Given the description of an element on the screen output the (x, y) to click on. 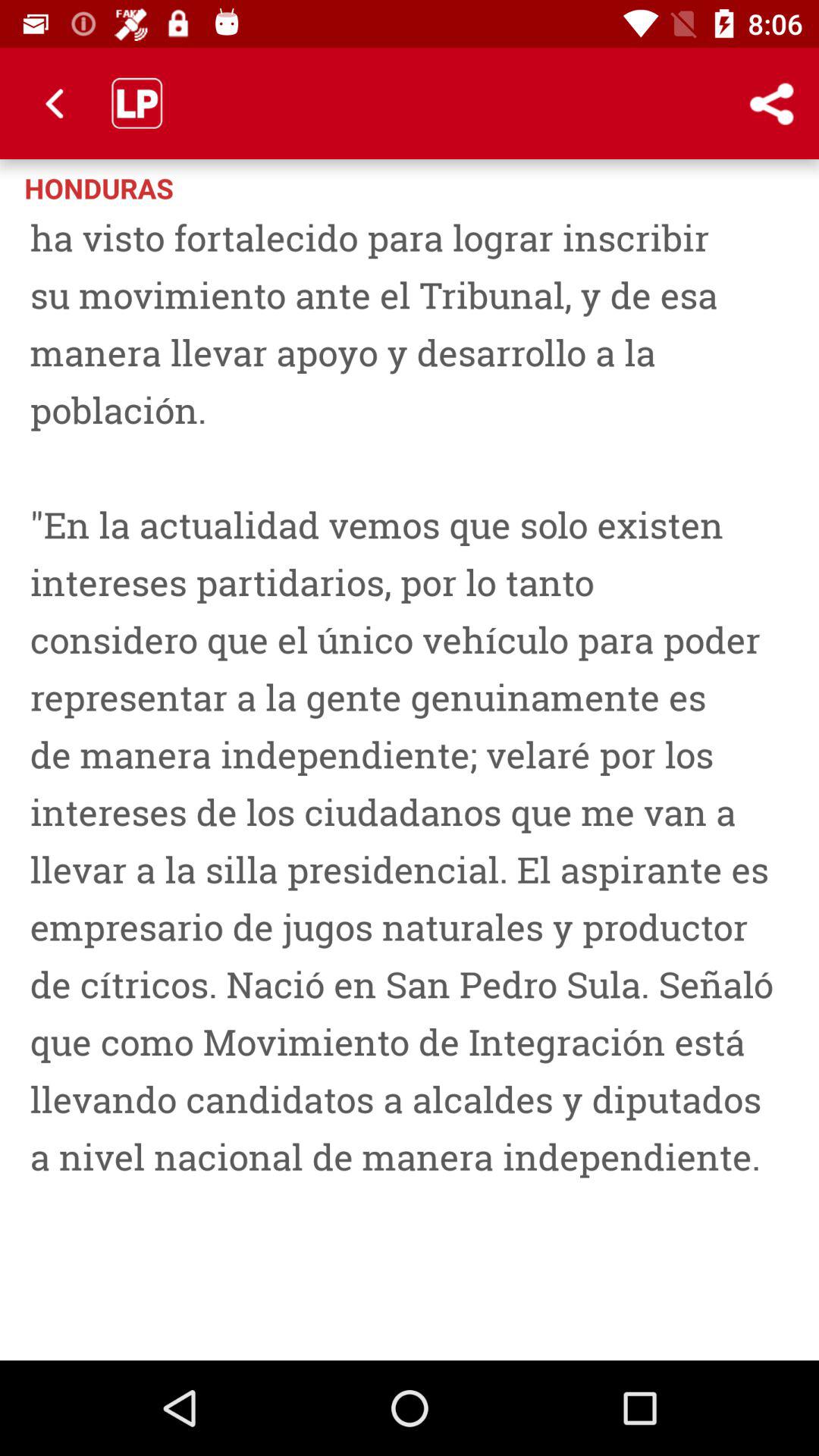
open the item next to honduras (771, 103)
